Given the description of an element on the screen output the (x, y) to click on. 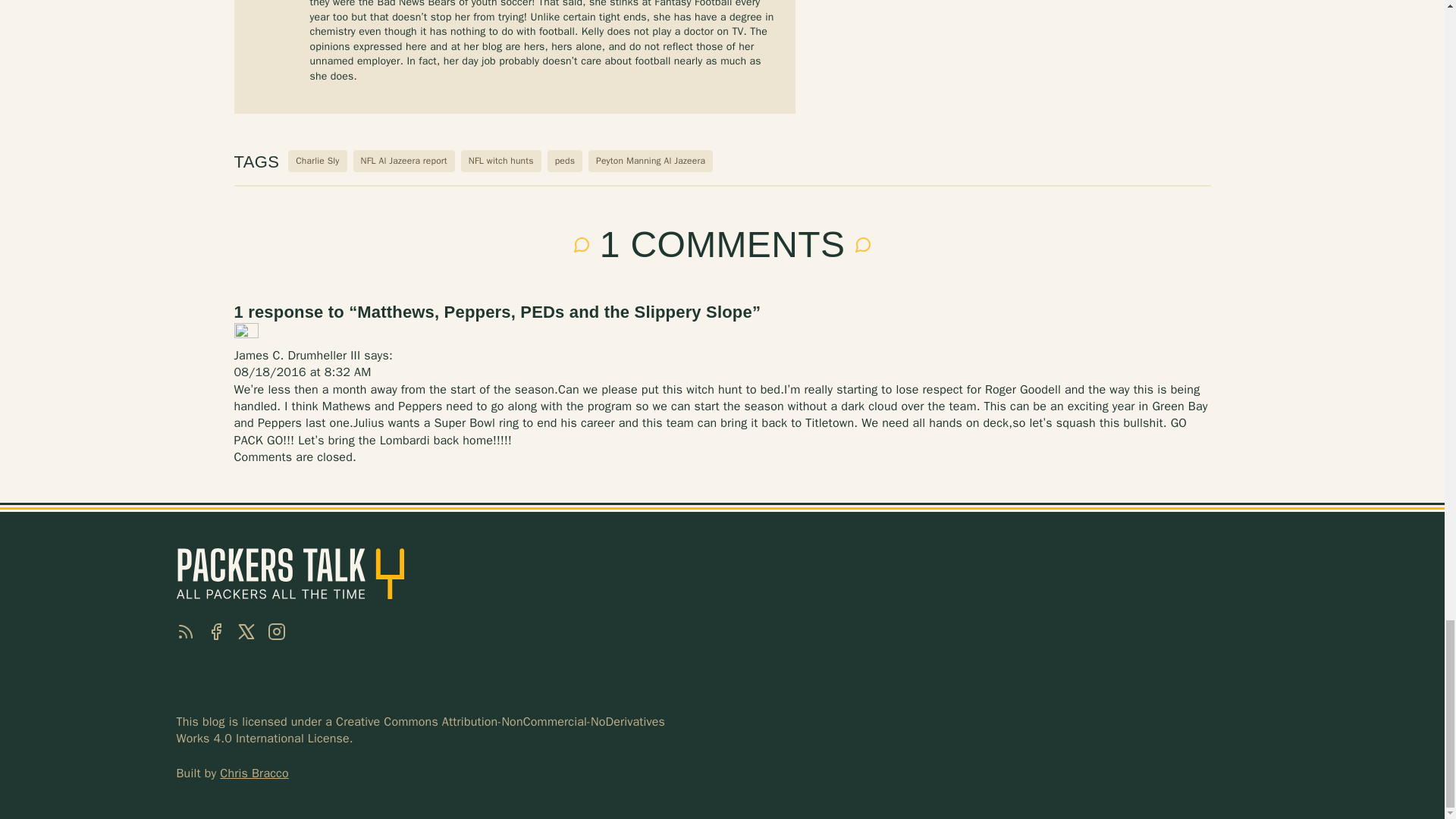
PackersTalk.com Blog Posts and Podcasts (289, 573)
Charlie Sly (317, 160)
NFL Al Jazeera report (403, 160)
PackersTalk on Twitter (244, 631)
PackersTalk RSS Feed (184, 631)
PackersTalk on Facebook (215, 631)
peds (564, 160)
NFL witch hunts (501, 160)
Peyton Manning Al Jazeera (650, 160)
